Given the description of an element on the screen output the (x, y) to click on. 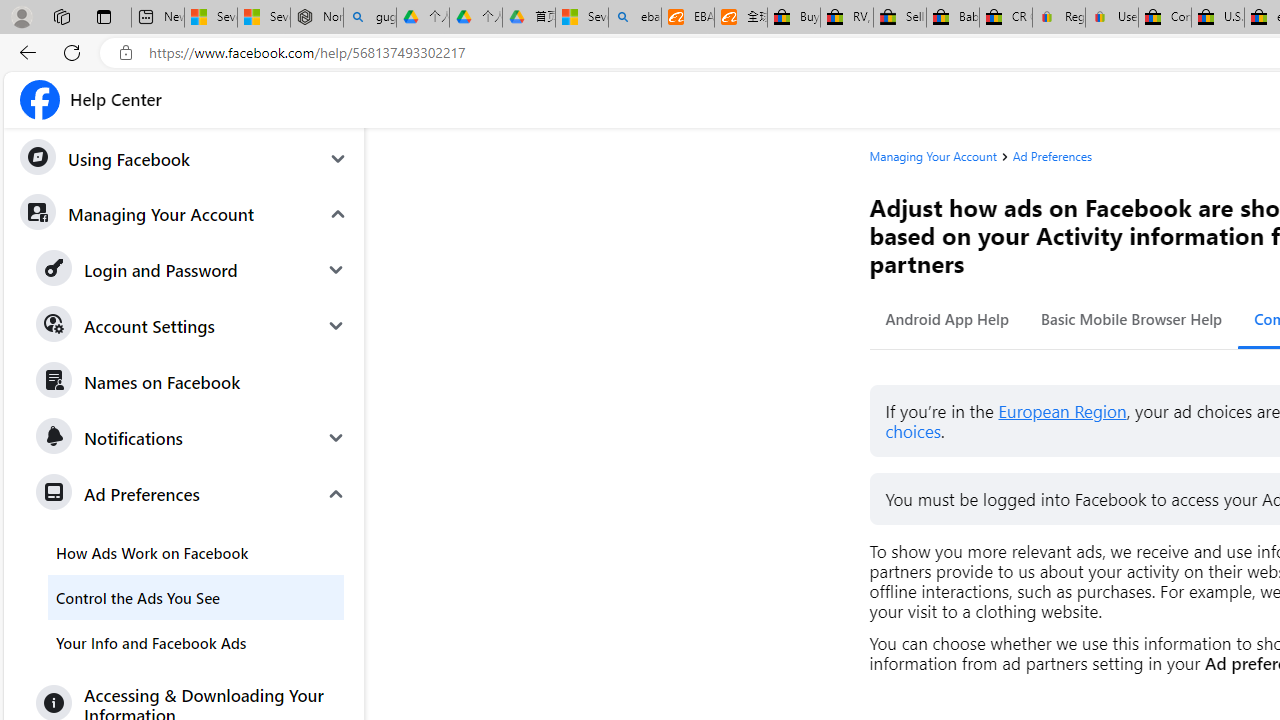
Basic Mobile Browser Help (1132, 318)
Notifications (191, 437)
Control the Ads You See (195, 596)
Names on Facebook (191, 381)
Android App Help (947, 318)
Ad Preferences (1052, 156)
Managing Your Account (940, 156)
Baby Keepsakes & Announcements for sale | eBay (952, 17)
Ad Preferences Expand (191, 493)
ebay - Search (634, 17)
Control the Ads You See (196, 596)
Expand (335, 493)
